Given the description of an element on the screen output the (x, y) to click on. 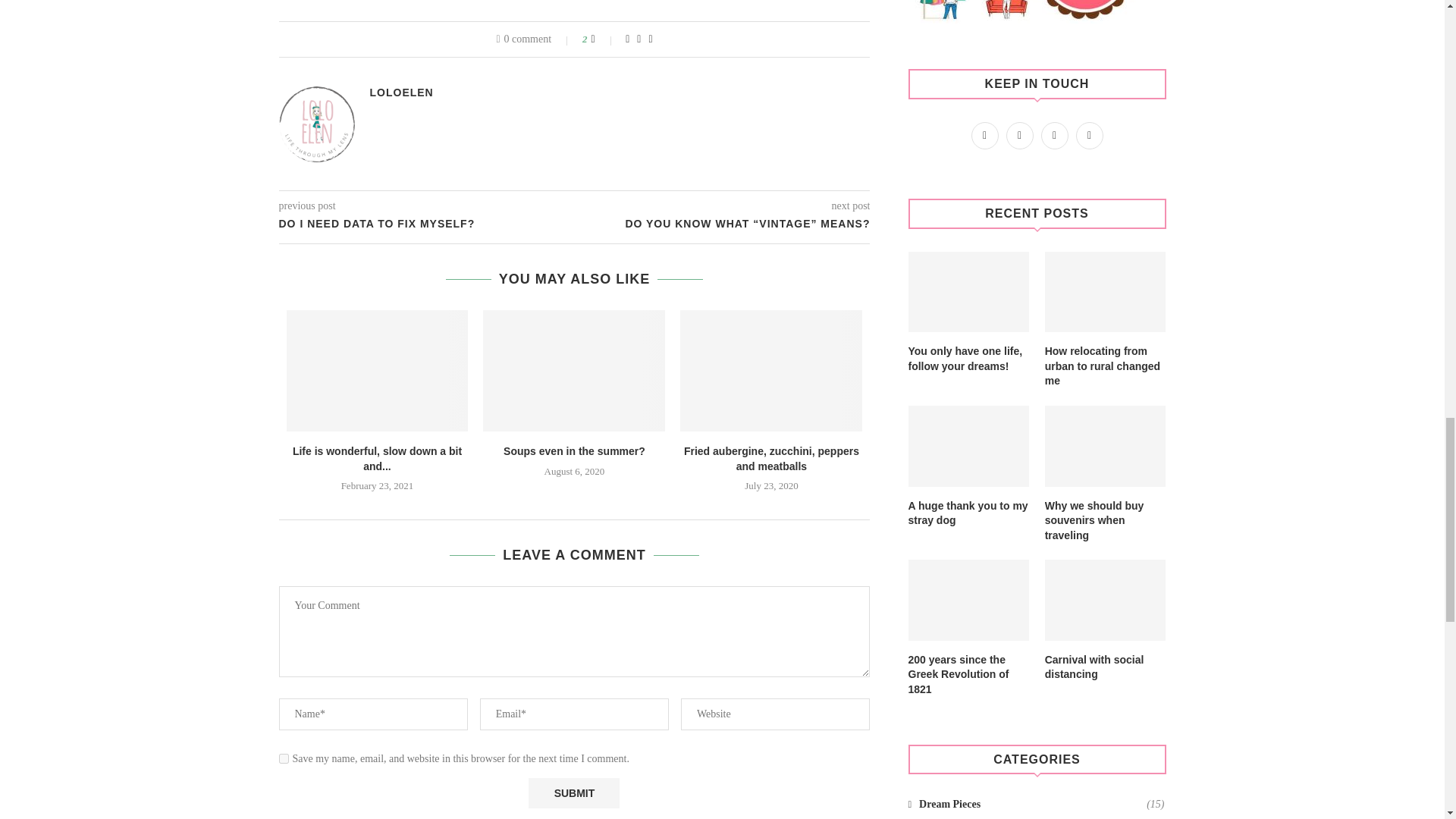
You only have one life, follow your dreams! (968, 291)
yes (283, 758)
Like (603, 39)
Author loloelen (401, 92)
Submit (574, 793)
Soups even in the summer? (574, 370)
Fried aubergine, zucchini, peppers and meatballs (770, 370)
